Given the description of an element on the screen output the (x, y) to click on. 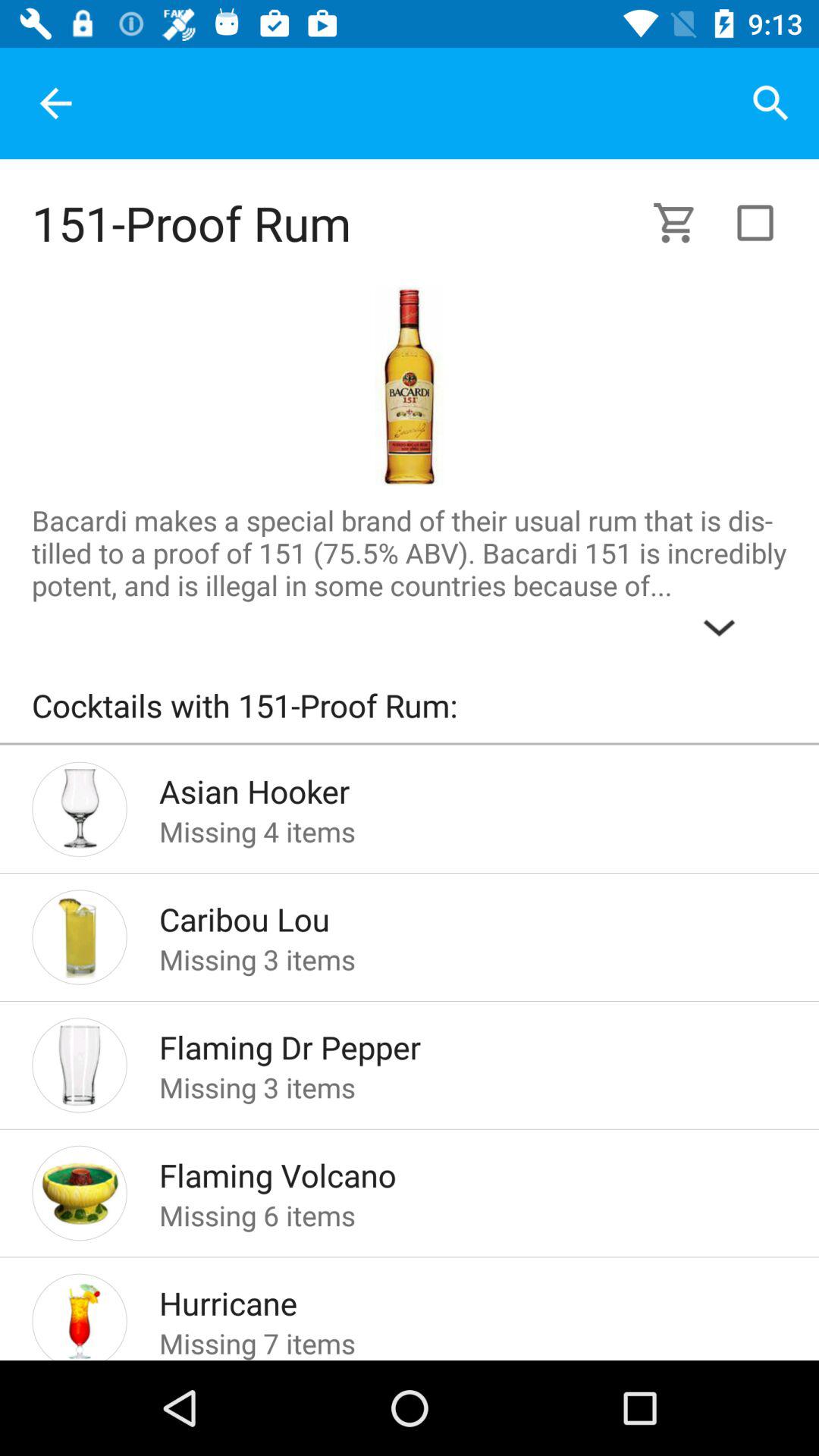
flip to the bacardi makes a item (409, 576)
